Given the description of an element on the screen output the (x, y) to click on. 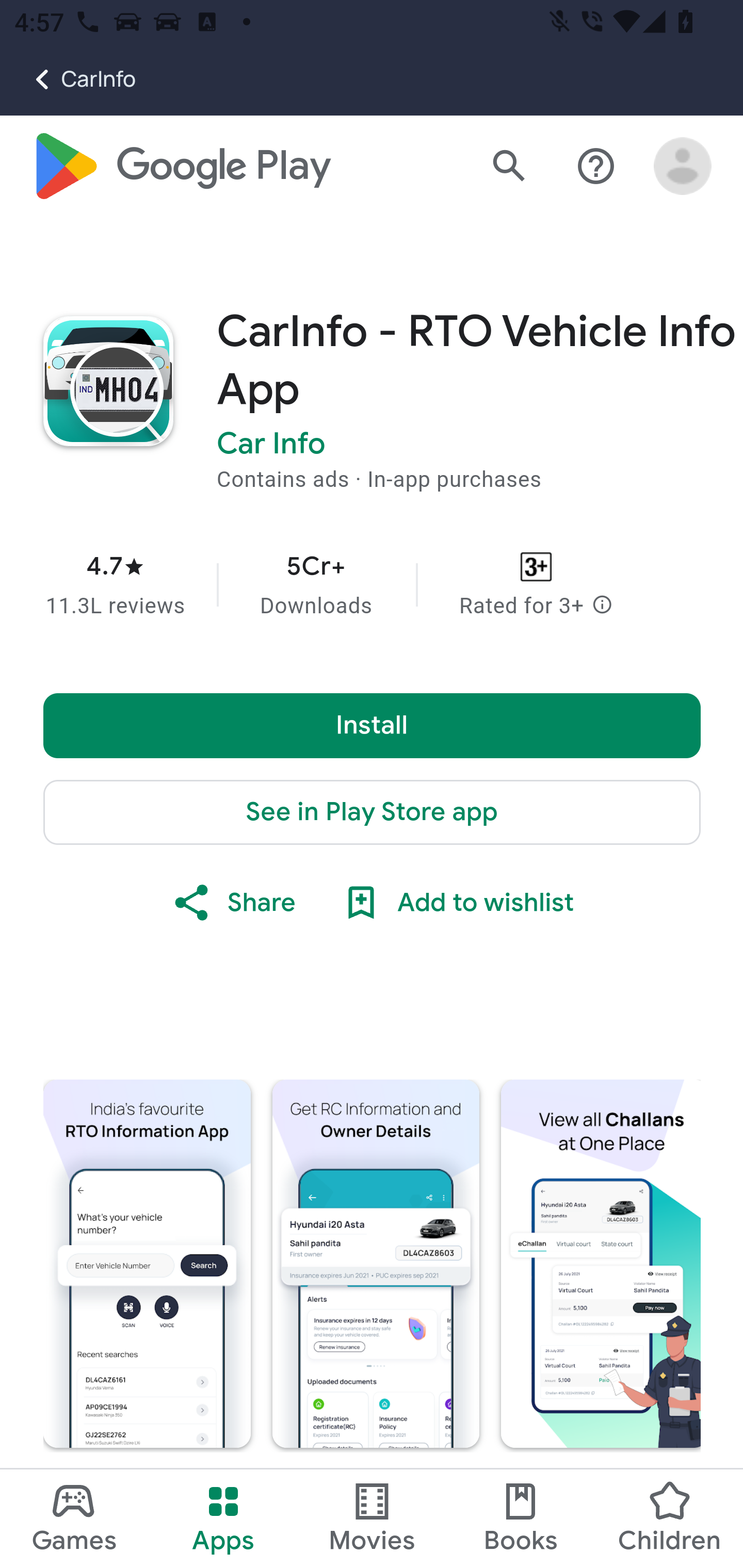
CarInfo (67, 79)
Google Play logo (180, 166)
Search (508, 166)
Help centre (596, 166)
Open account menu (682, 166)
Car Info (271, 445)
More info about this content rating (601, 606)
Install (372, 726)
See in Play Store app (372, 812)
Share (233, 903)
Add to wishlist (455, 903)
Screenshot image (147, 1263)
Screenshot image (375, 1263)
Screenshot image (601, 1263)
Games (74, 1518)
Apps (222, 1518)
Movies (372, 1518)
Books (520, 1518)
Children (668, 1518)
